Given the description of an element on the screen output the (x, y) to click on. 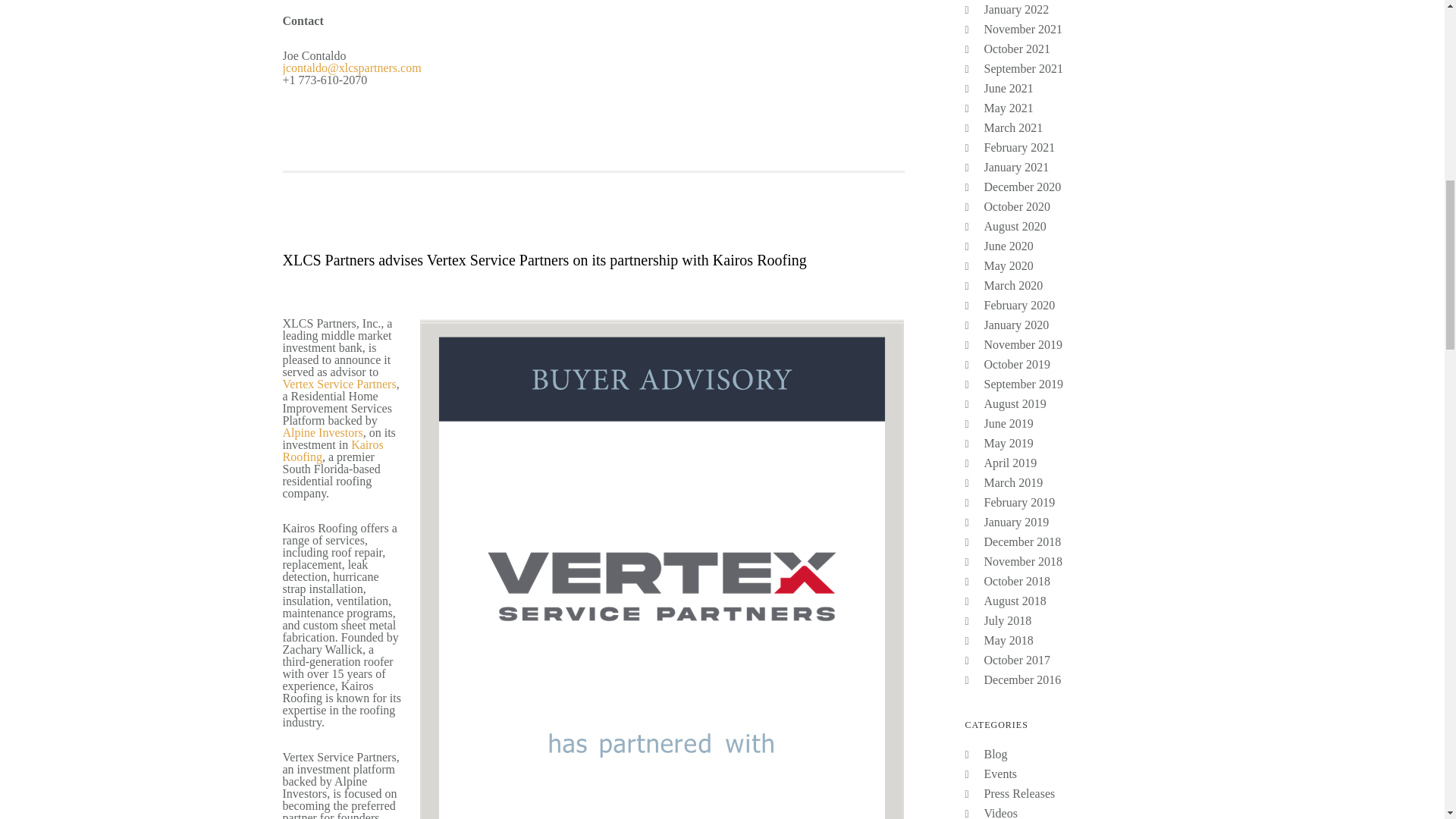
Vertex Service Partners (339, 383)
Alpine Investors (322, 431)
Kairos Roofing (332, 450)
